Given the description of an element on the screen output the (x, y) to click on. 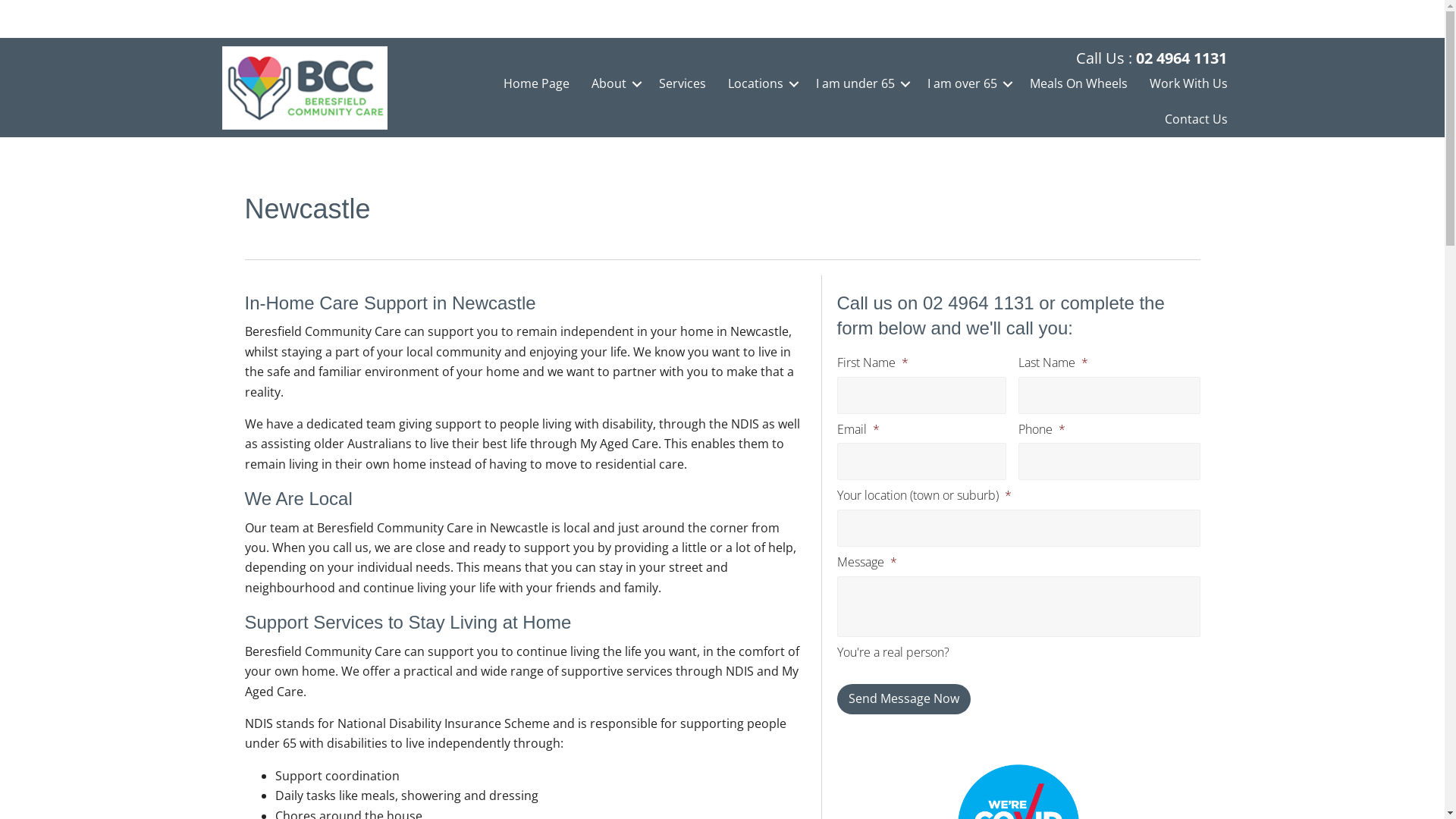
I am over 65 Element type: text (967, 83)
Send Message Now Element type: text (903, 698)
Locations Element type: text (760, 83)
Home Page Element type: text (536, 83)
Contact Us Element type: text (1196, 119)
02 4964 1131 Element type: text (1180, 57)
Work With Us Element type: text (1188, 83)
Meals On Wheels Element type: text (1078, 83)
I am under 65 Element type: text (860, 83)
Services Element type: text (682, 83)
Layer 2 Element type: hover (304, 87)
02 4964 1131 Element type: text (978, 302)
About Element type: text (613, 83)
